Given the description of an element on the screen output the (x, y) to click on. 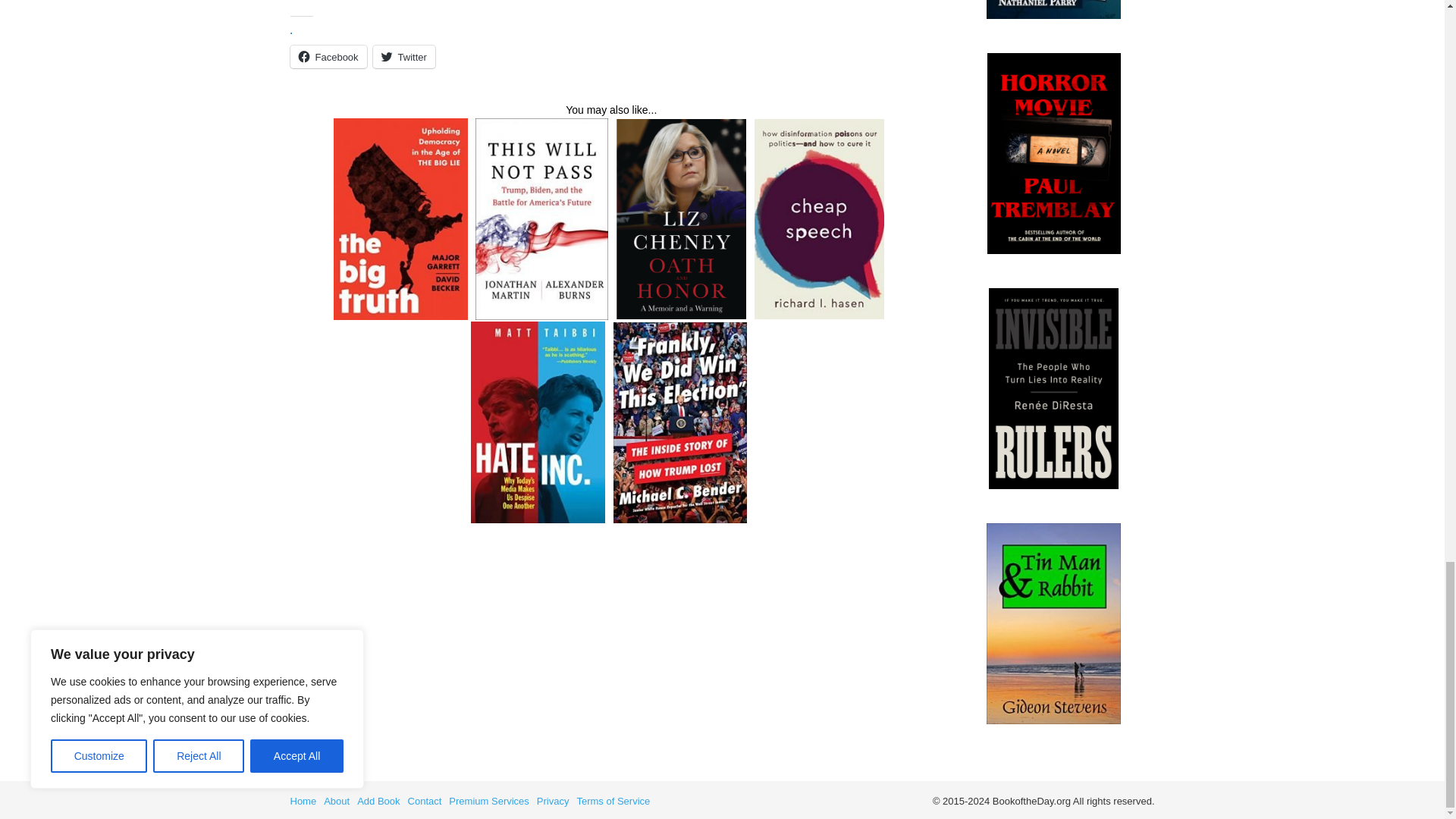
Click to share on Twitter (403, 56)
Click to share on Facebook (327, 56)
